Given the description of an element on the screen output the (x, y) to click on. 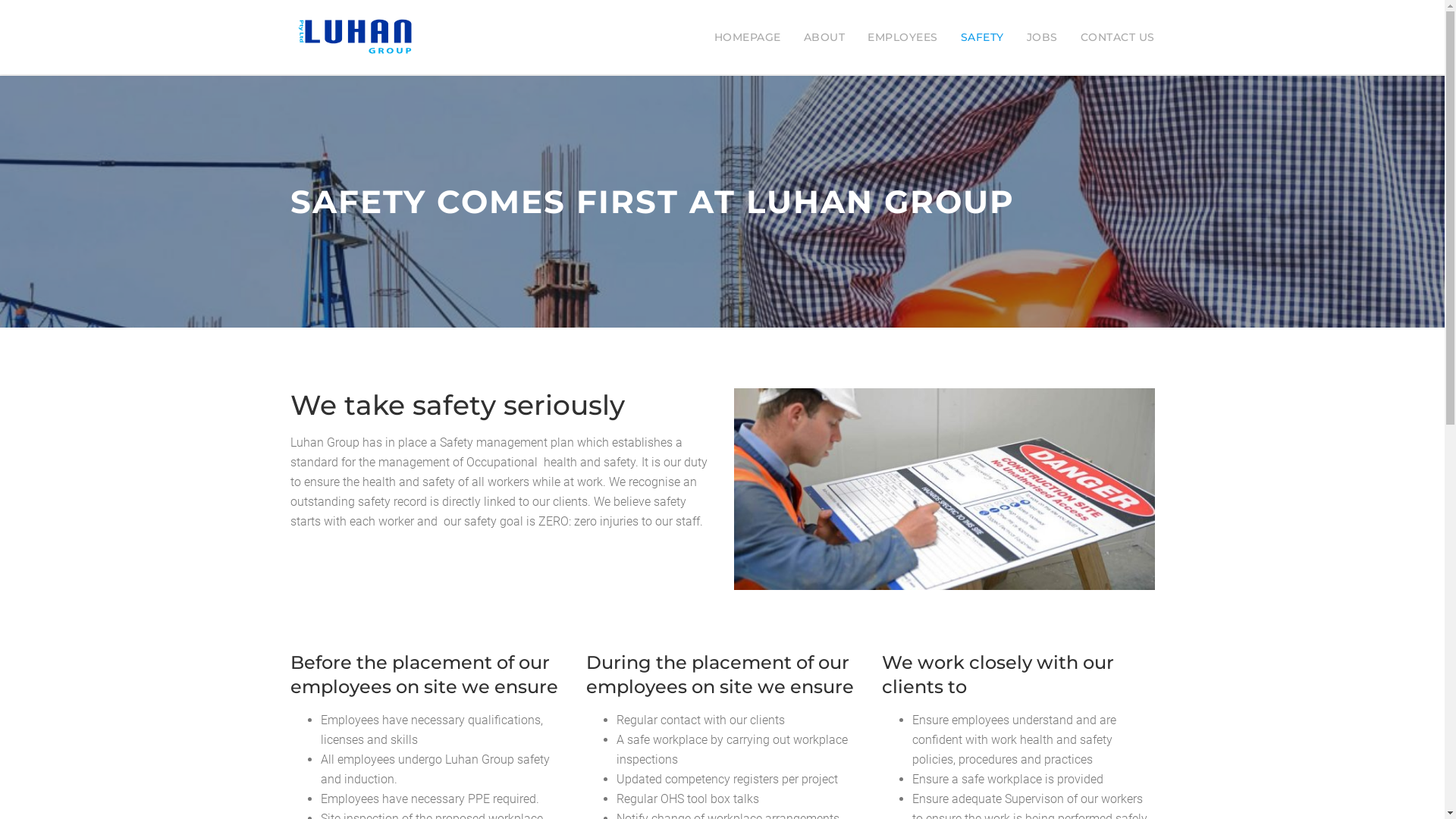
CONTACT US Element type: text (1116, 36)
EMPLOYEES Element type: text (902, 36)
ABOUT Element type: text (824, 36)
HOMEPAGE Element type: text (747, 36)
JOBS Element type: text (1041, 36)
SAFETY Element type: text (981, 36)
